Given the description of an element on the screen output the (x, y) to click on. 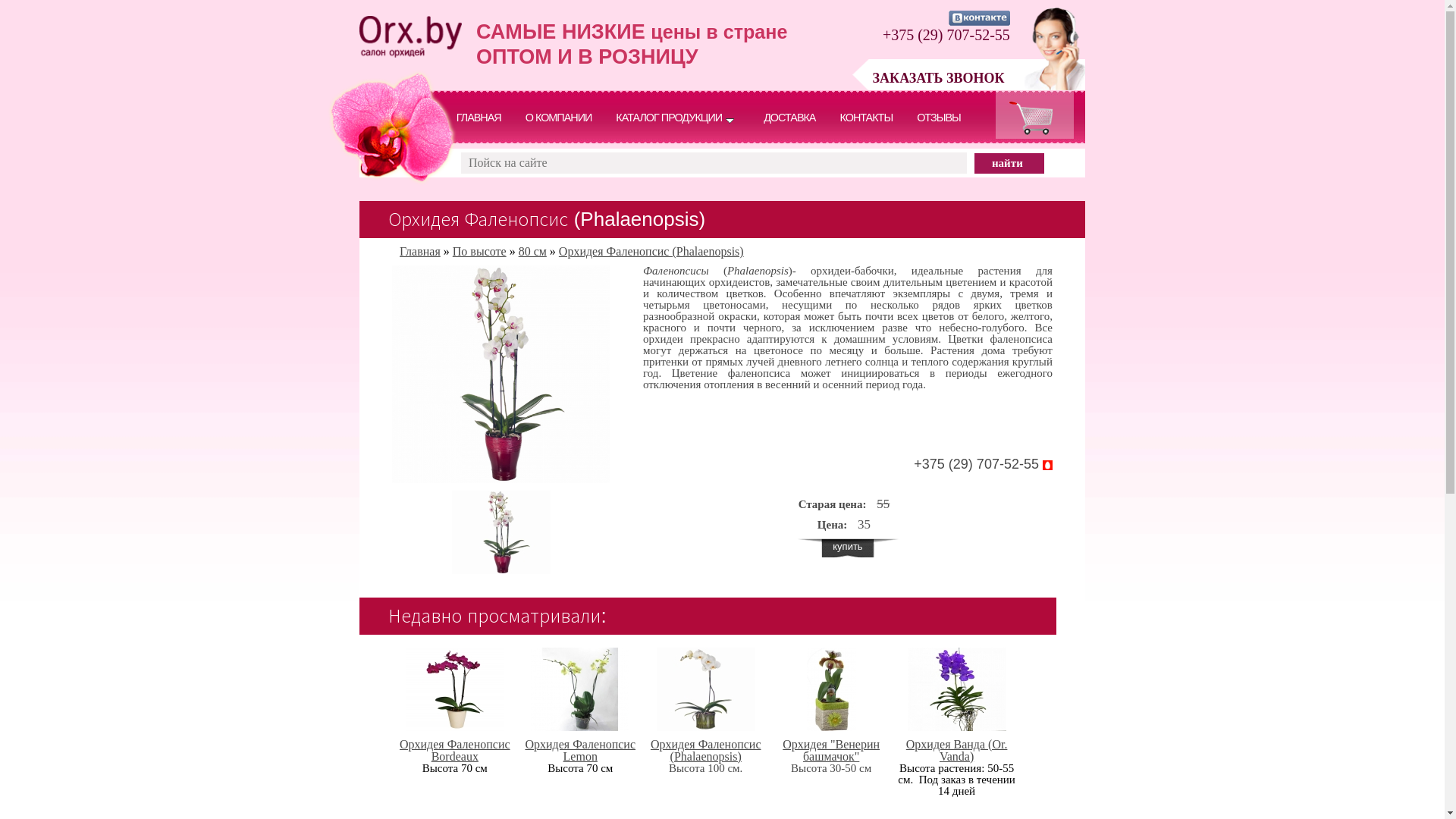
call-logo Element type: hover (1054, 49)
vk Element type: hover (979, 17)
